Given the description of an element on the screen output the (x, y) to click on. 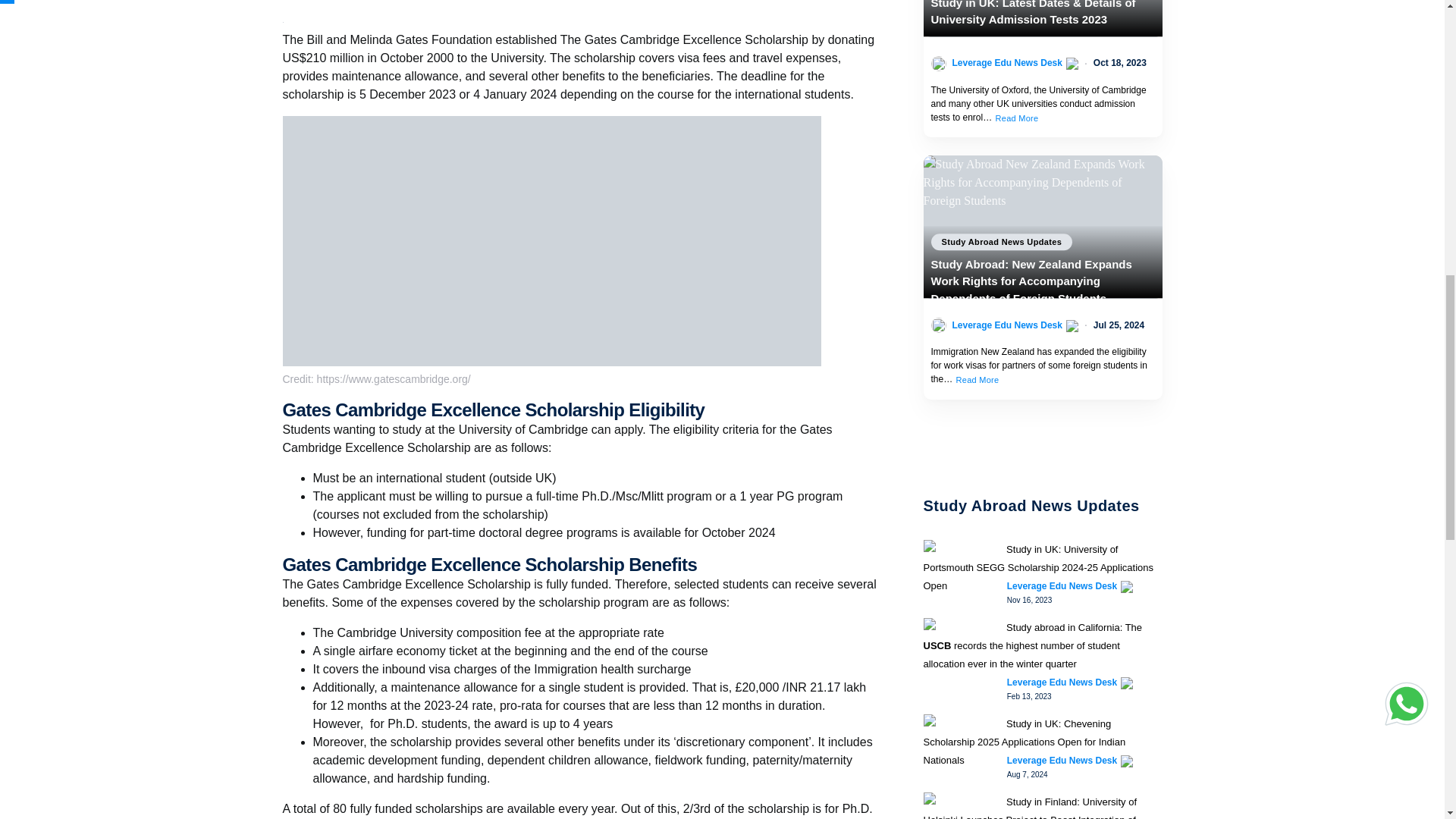
View all posts by Leverage Edu News Desk (1061, 585)
View all posts by Leverage Edu News Desk (1007, 62)
View all posts by Leverage Edu News Desk (1061, 760)
View all posts by Leverage Edu News Desk (1061, 682)
View all posts by Leverage Edu News Desk (1007, 325)
